Given the description of an element on the screen output the (x, y) to click on. 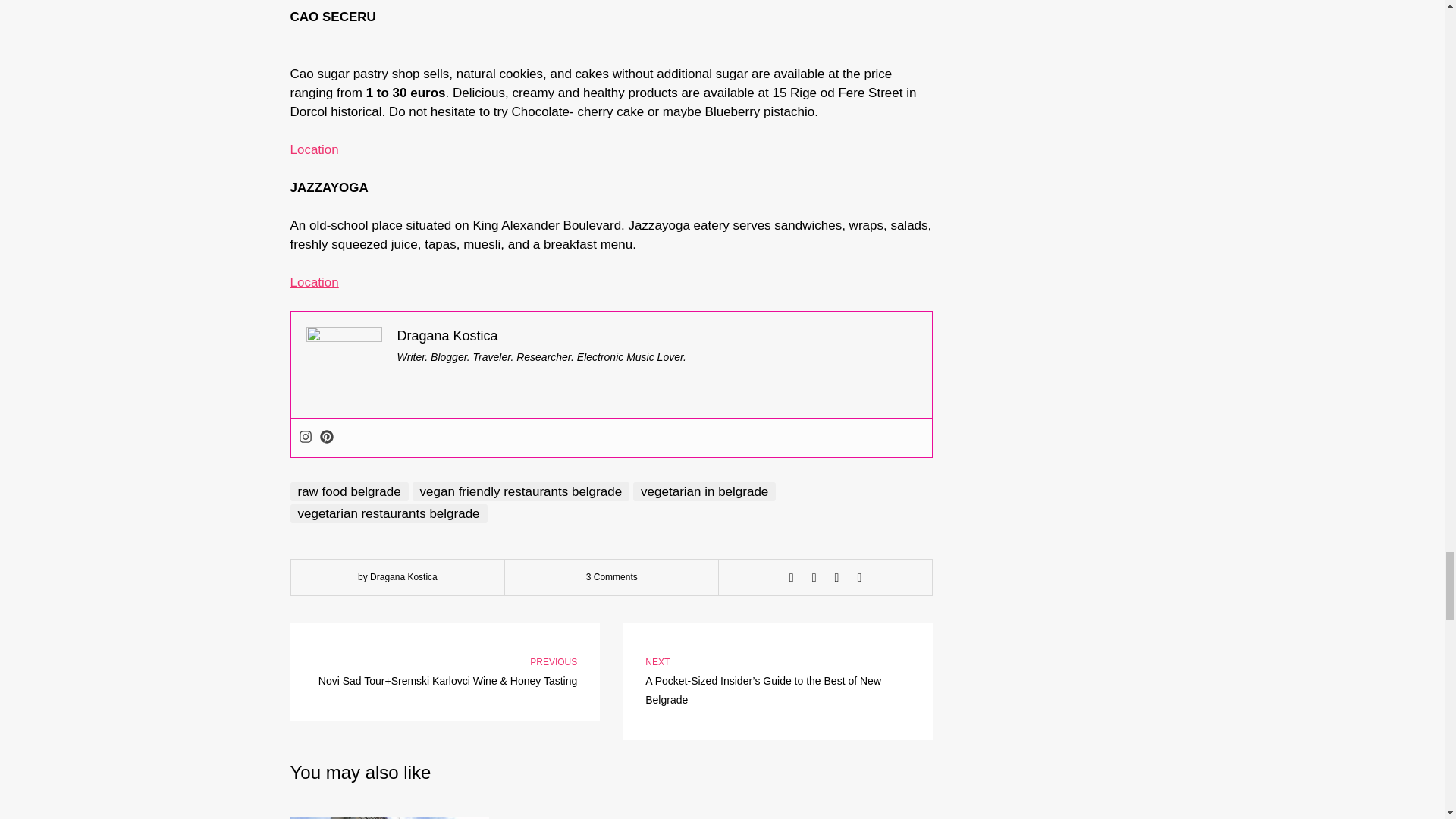
Tweet this (814, 577)
Share with Google Plus (837, 577)
Pin this (858, 577)
Share this (791, 577)
